Given the description of an element on the screen output the (x, y) to click on. 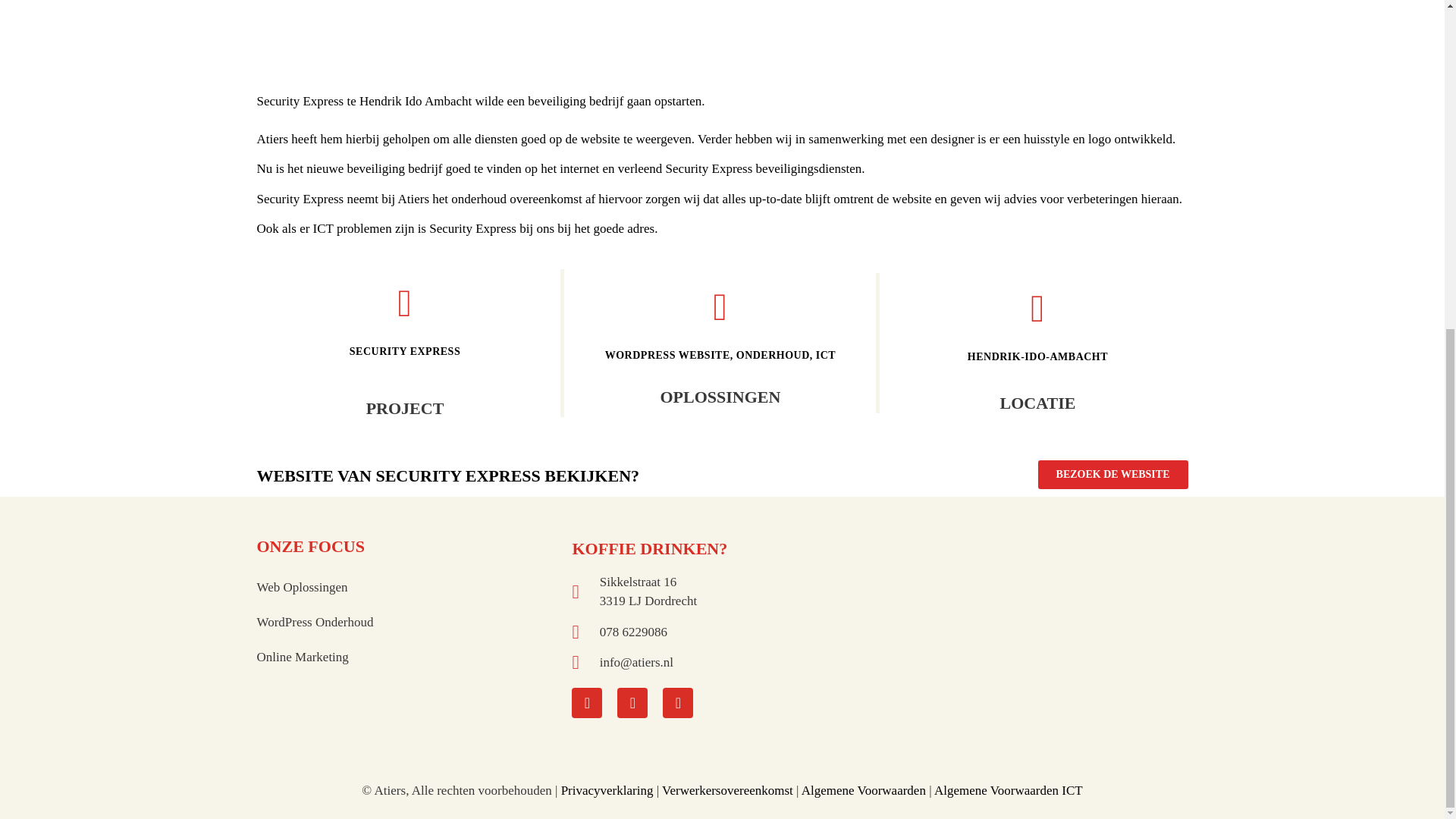
Web Oplossingen (406, 587)
BEZOEK DE WEBSITE (1113, 474)
WordPress Onderhoud (406, 622)
Online Marketing (406, 656)
